Given the description of an element on the screen output the (x, y) to click on. 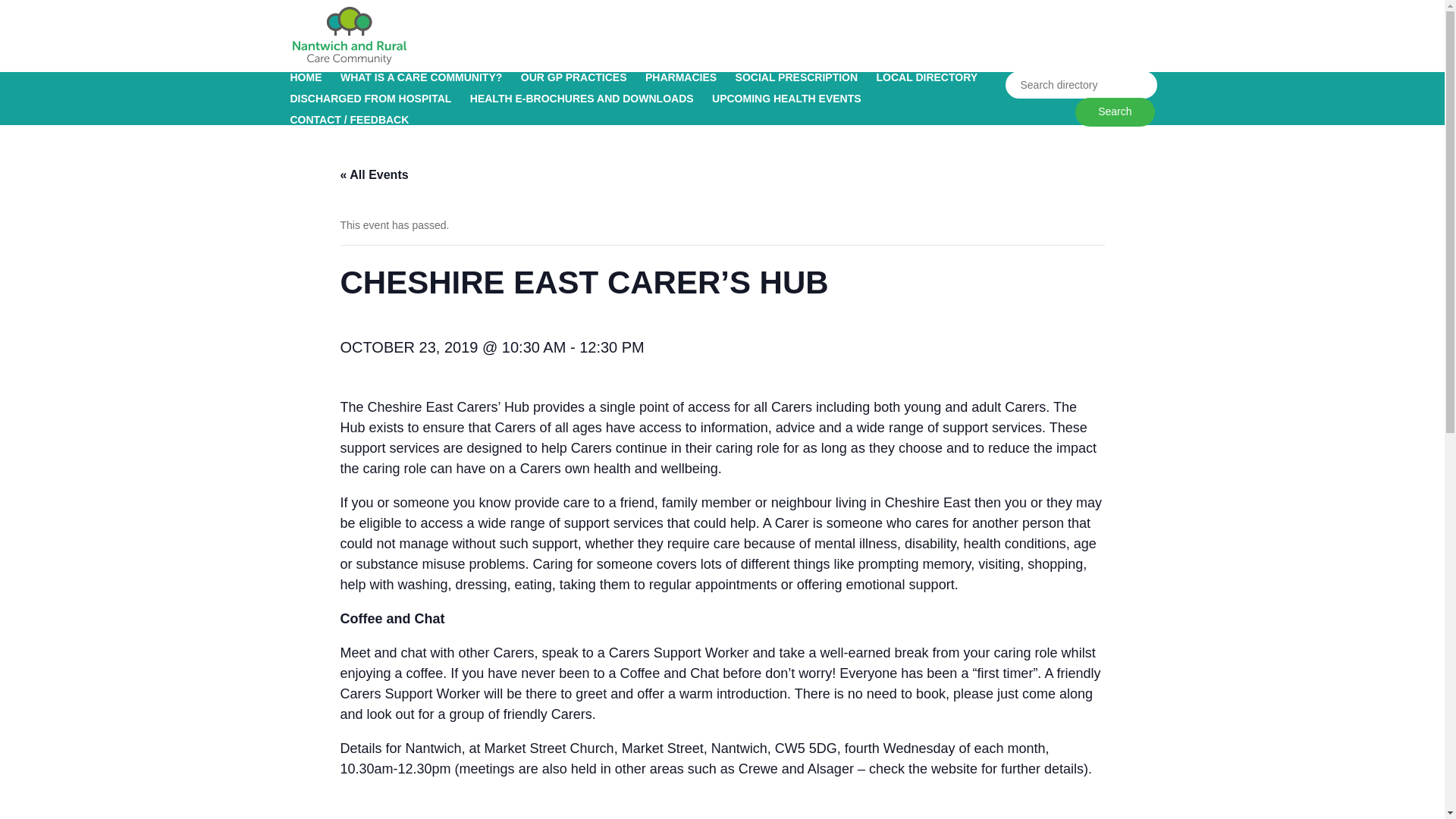
WHAT IS A CARE COMMUNITY? (421, 77)
LOCAL DIRECTORY (927, 77)
DISCHARGED FROM HOSPITAL (370, 98)
Search (1114, 111)
PHARMACIES (680, 77)
HOME (305, 77)
OUR GP PRACTICES (574, 77)
UPCOMING HEALTH EVENTS (786, 98)
HEALTH E-BROCHURES AND DOWNLOADS (582, 98)
Search for: (1081, 84)
